Given the description of an element on the screen output the (x, y) to click on. 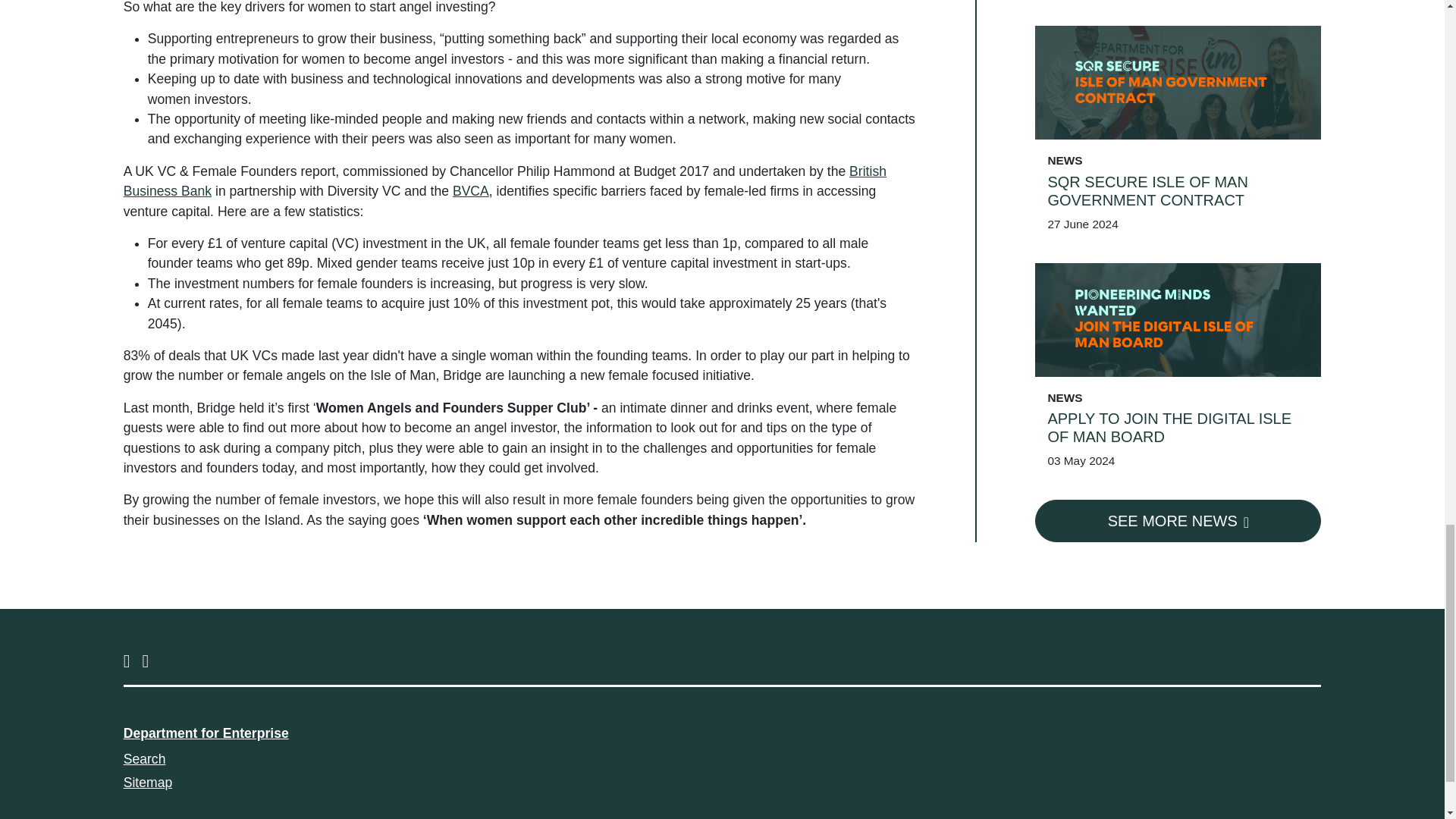
APPLY TO JOIN THE DIGITAL ISLE OF MAN BOARD (1177, 17)
BVCA (470, 191)
British Business Bank (504, 181)
